Given the description of an element on the screen output the (x, y) to click on. 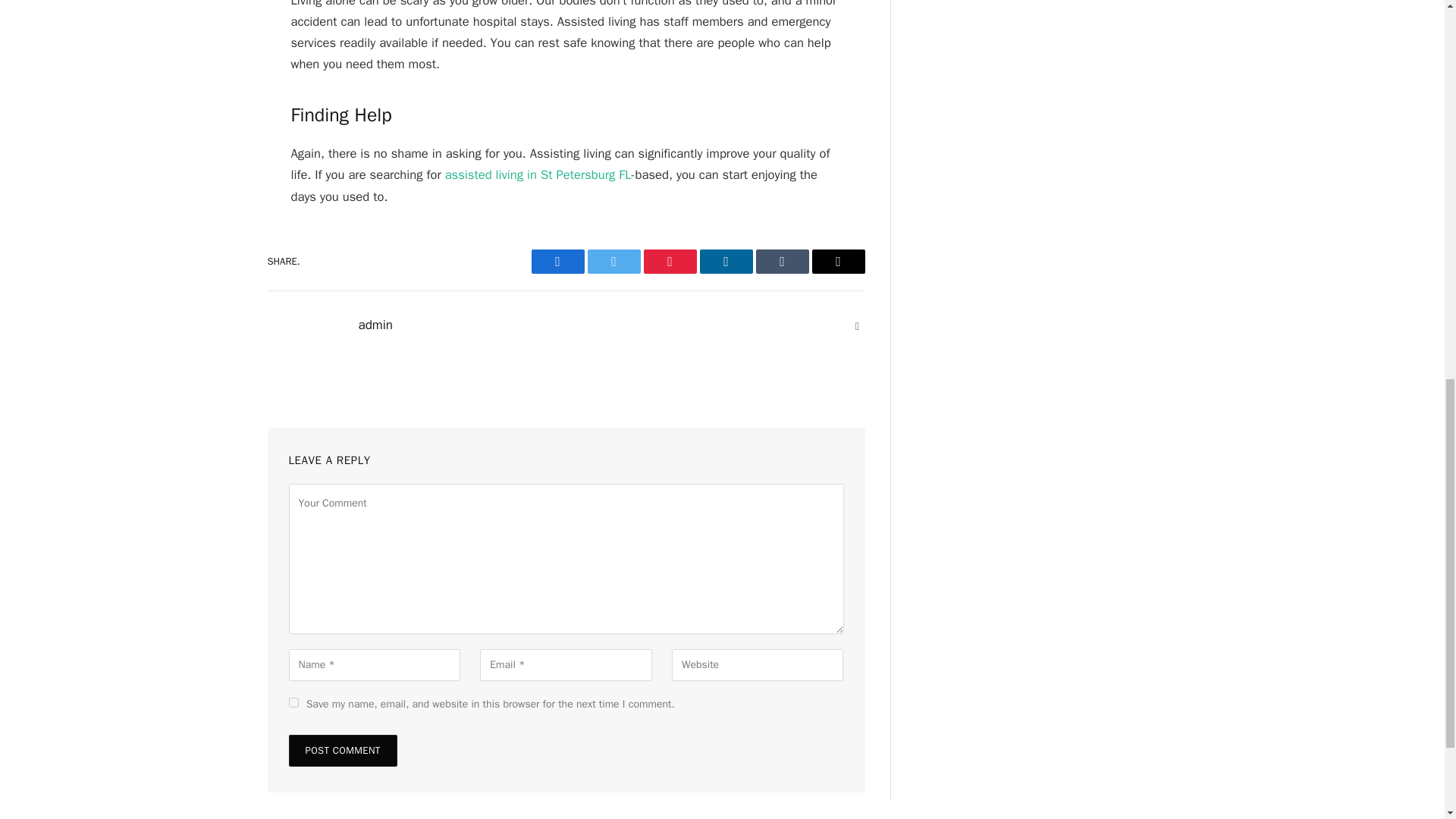
assisted living in St Petersburg FL (538, 174)
Post Comment (342, 750)
yes (293, 702)
Facebook (557, 261)
